Given the description of an element on the screen output the (x, y) to click on. 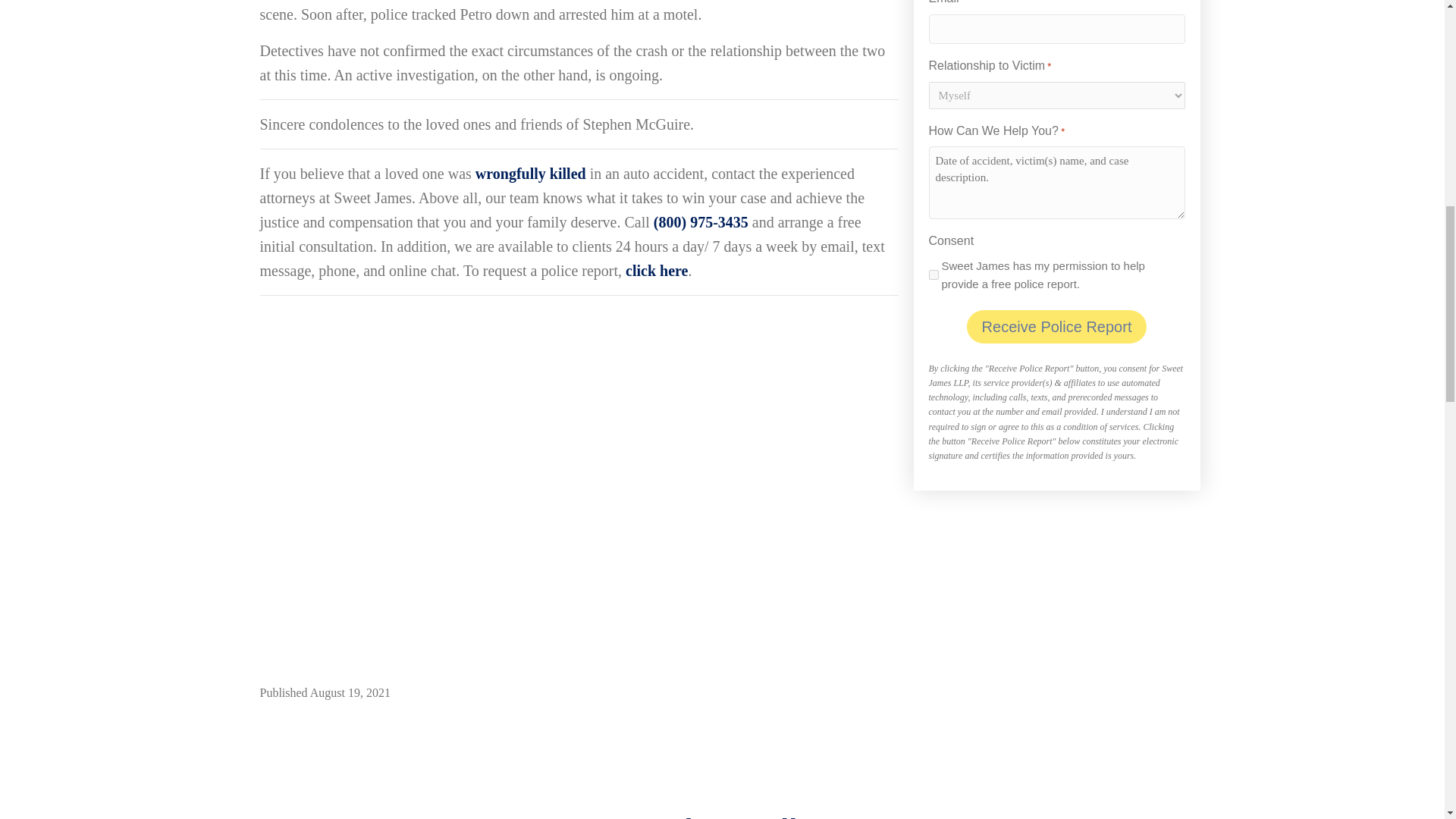
click here (656, 270)
Receive Police Report (1056, 326)
Receive Police Report (1056, 326)
wrongfully killed (531, 173)
